Given the description of an element on the screen output the (x, y) to click on. 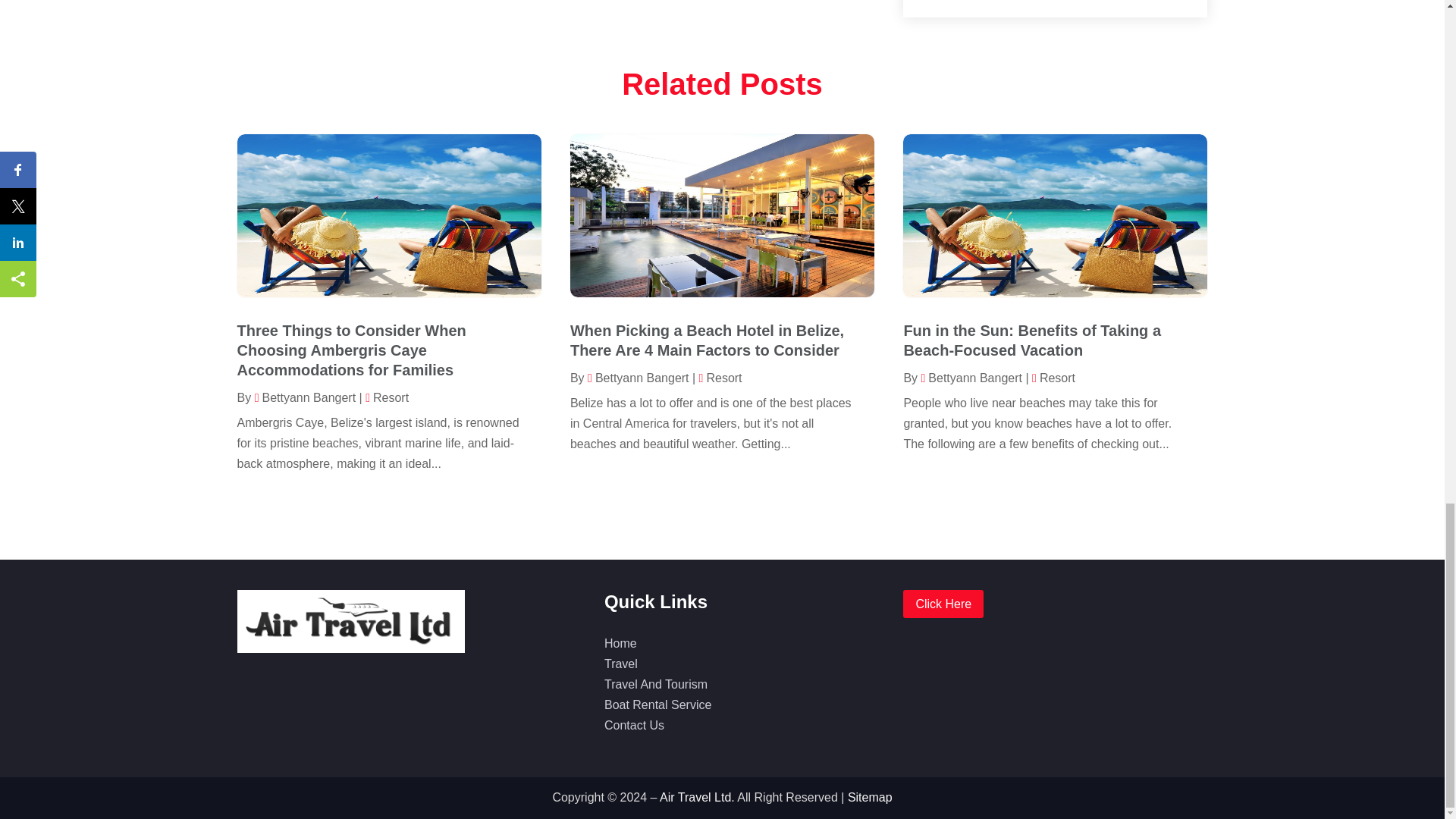
Posts by Bettyann Bangert (638, 377)
Posts by Bettyann Bangert (304, 397)
Air Travel LTD (346, 621)
Posts by Bettyann Bangert (971, 377)
